Given the description of an element on the screen output the (x, y) to click on. 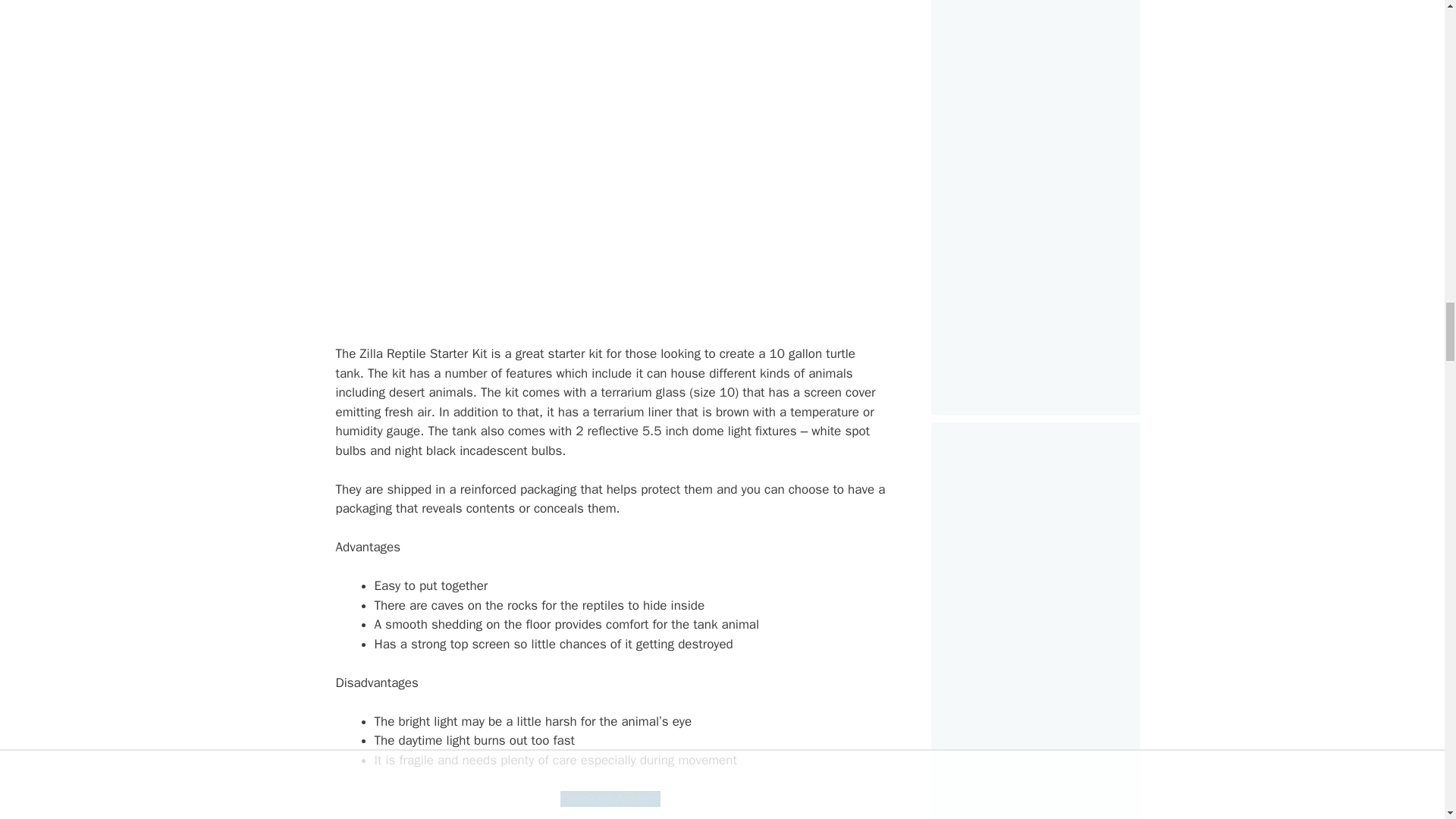
Check on Amazon (610, 798)
